Given the description of an element on the screen output the (x, y) to click on. 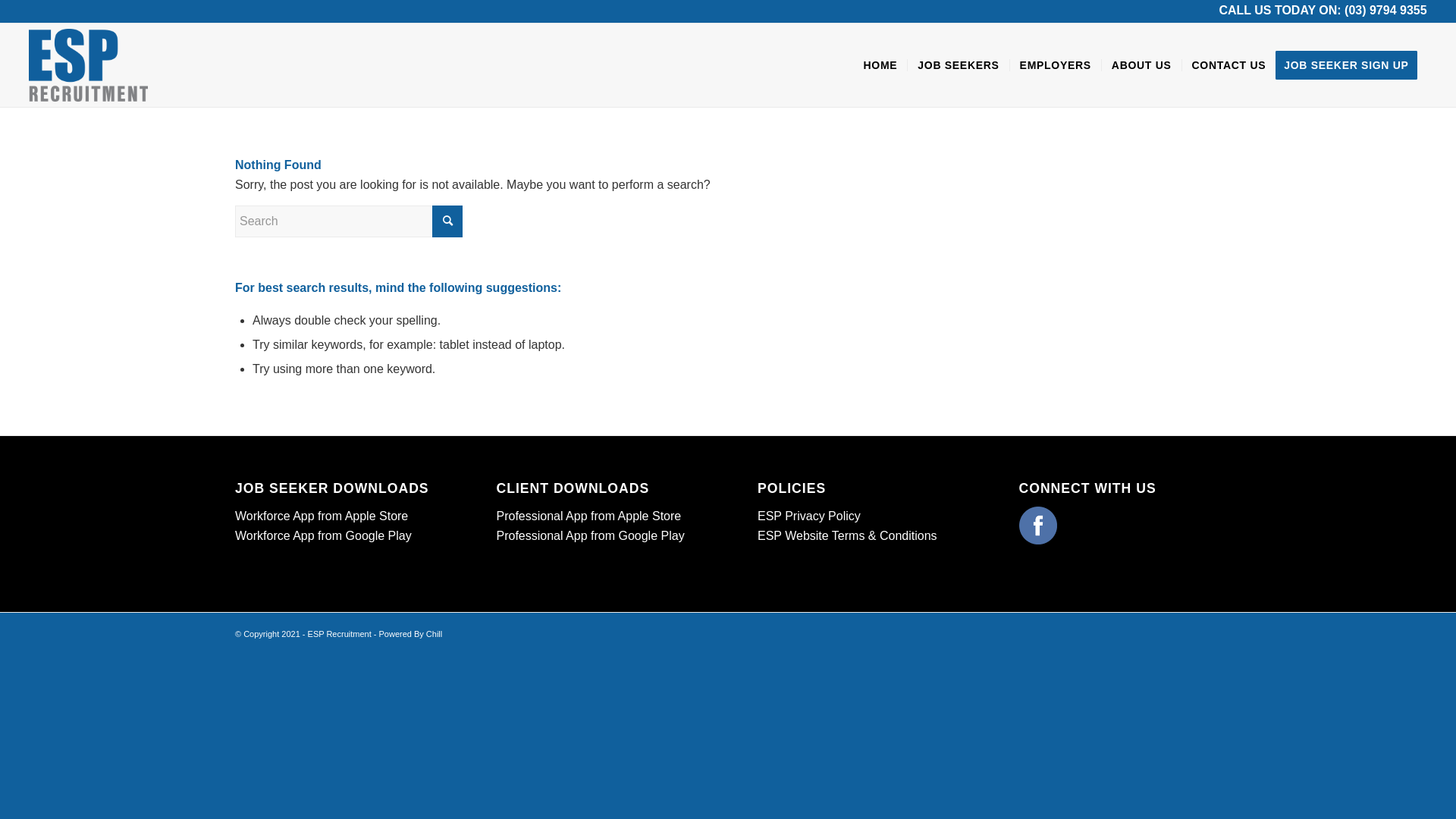
ESP Privacy Policy Element type: text (808, 515)
Workforce App from Google Play Element type: text (323, 535)
JOB SEEKERS Element type: text (957, 64)
Workforce App from Apple Store Element type: text (321, 515)
Professional App from Google Play Element type: text (589, 535)
EMPLOYERS Element type: text (1055, 64)
Powered By Chill Element type: text (410, 633)
JOB SEEKER SIGN UP Element type: text (1350, 64)
HOME Element type: text (880, 64)
ABOUT US Element type: text (1141, 64)
CONTACT US Element type: text (1228, 64)
ESP Website Terms & Conditions Element type: text (847, 535)
Professional App from Apple Store Element type: text (587, 515)
